Given the description of an element on the screen output the (x, y) to click on. 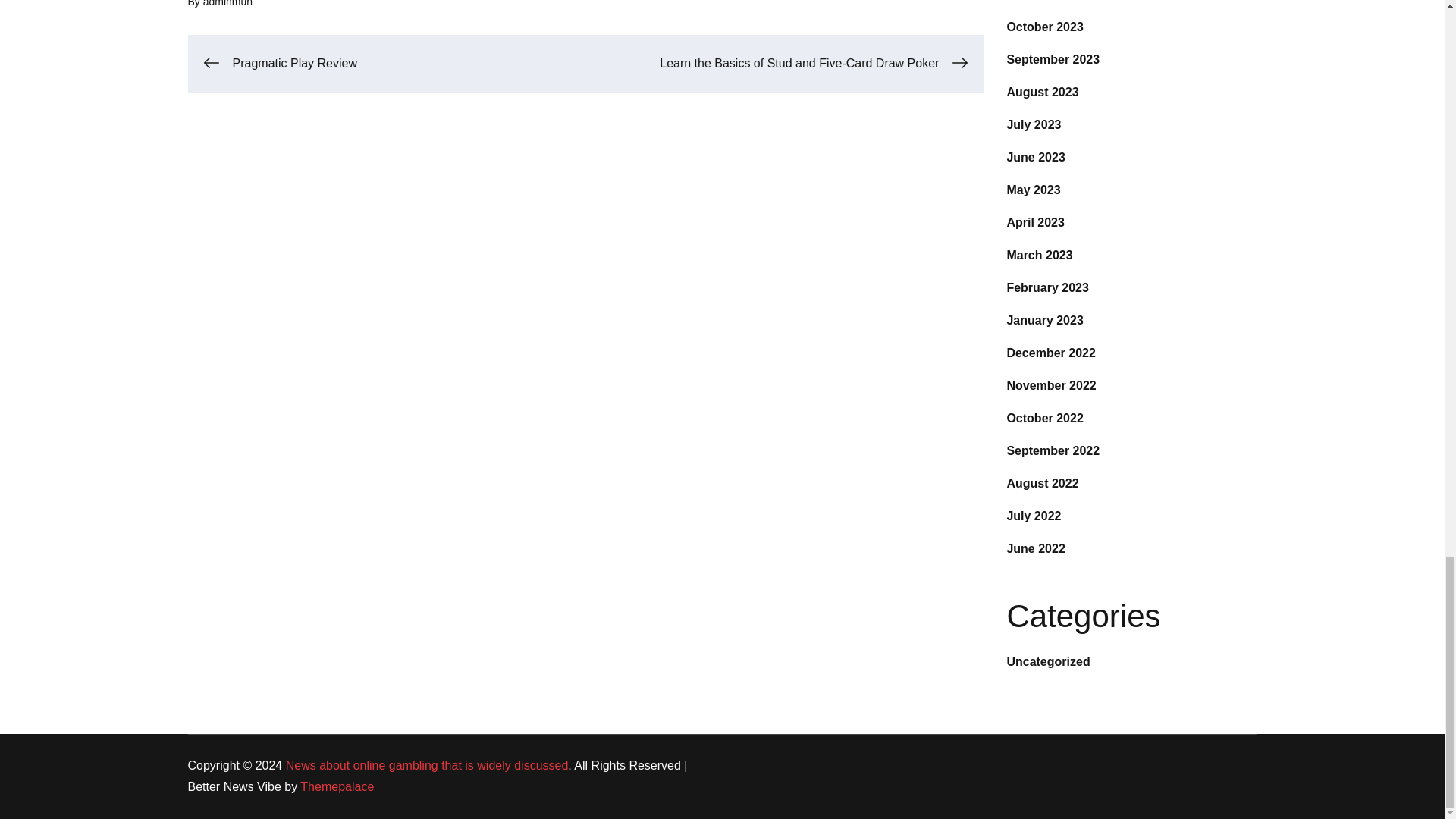
February 2023 (1047, 287)
January 2023 (1044, 319)
October 2022 (1044, 418)
adminmun (227, 3)
July 2023 (1033, 124)
April 2023 (1035, 222)
December 2022 (1050, 352)
May 2023 (1032, 189)
September 2023 (1052, 59)
August 2023 (1042, 91)
March 2023 (1038, 254)
June 2023 (1035, 156)
November 2022 (1051, 385)
October 2023 (1044, 26)
